Given the description of an element on the screen output the (x, y) to click on. 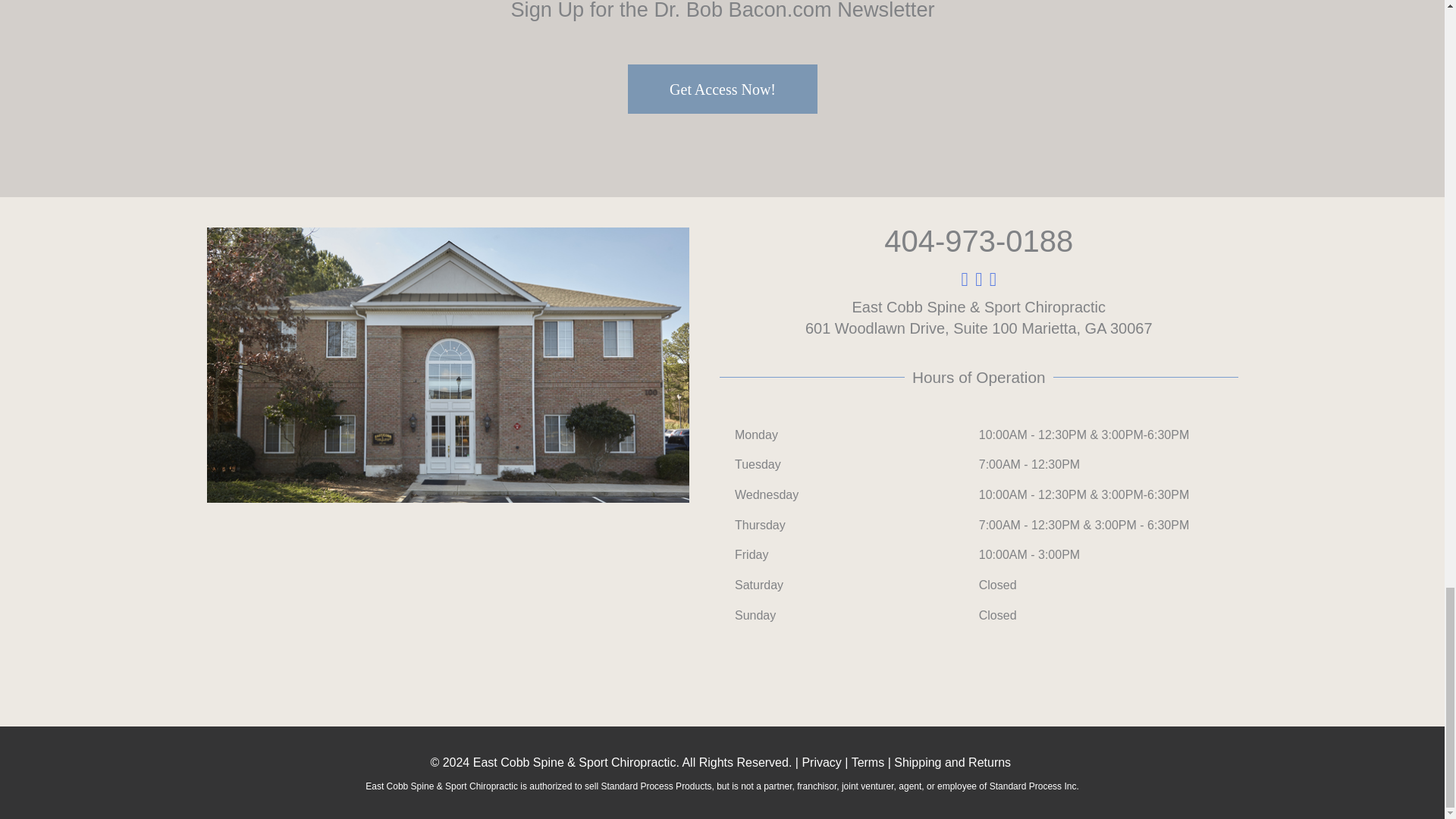
building-photo (447, 364)
